Given the description of an element on the screen output the (x, y) to click on. 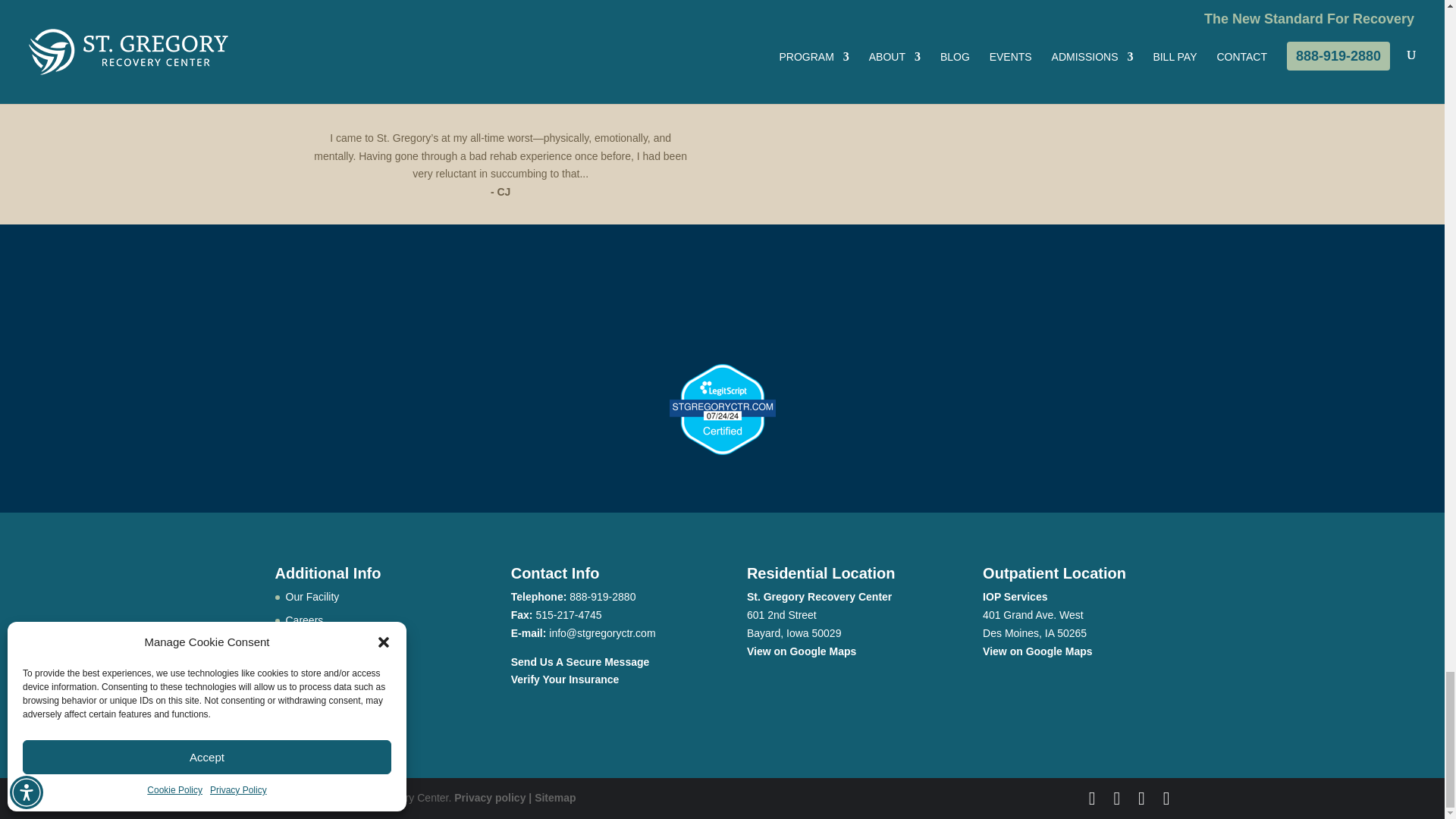
Verify LegitScript Approval (721, 451)
